Given the description of an element on the screen output the (x, y) to click on. 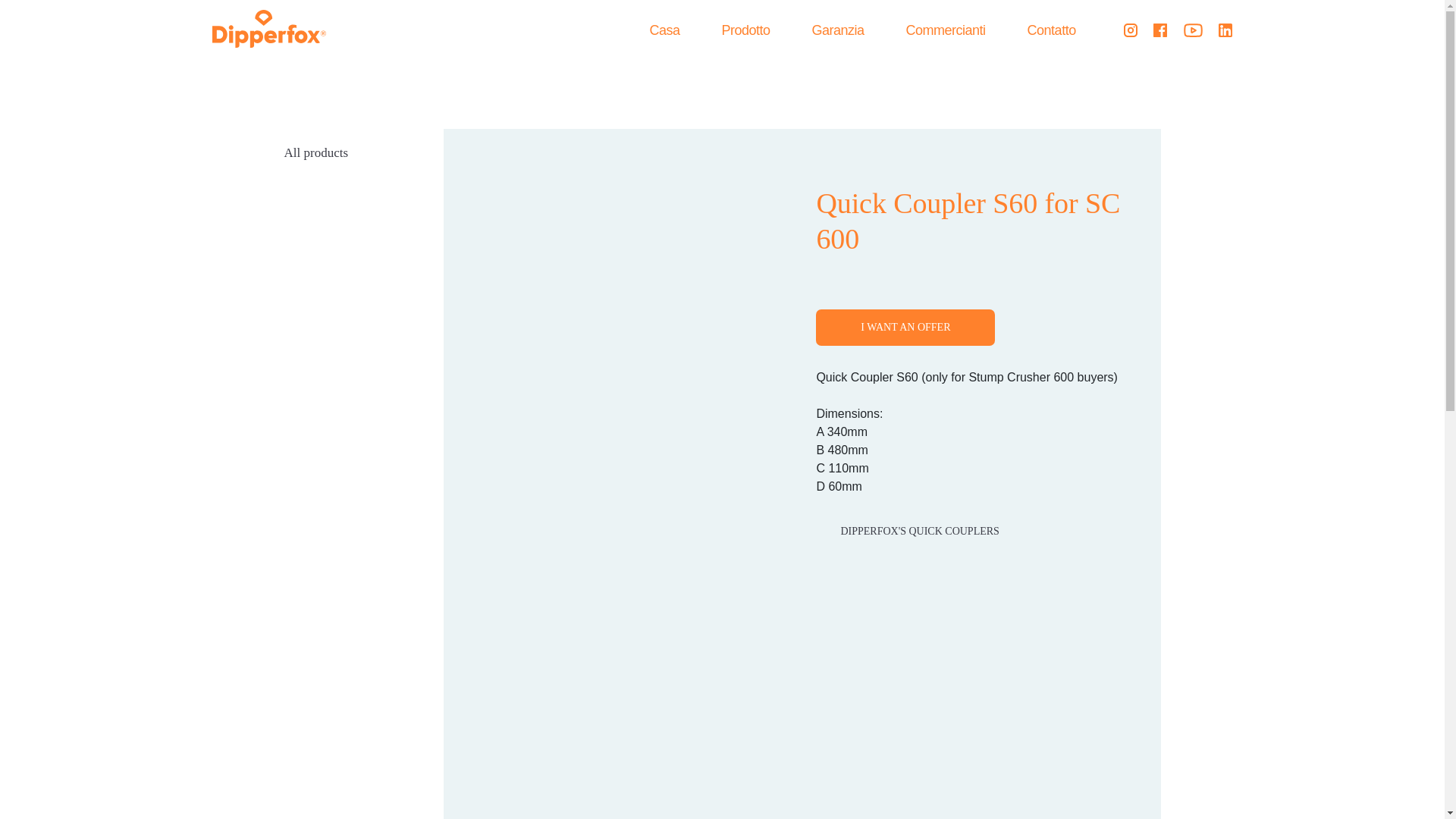
Commercianti (945, 29)
I WANT AN OFFER (904, 327)
All products (315, 152)
Garanzia (838, 29)
DIPPERFOX'S QUICK COUPLERS (914, 531)
Casa (664, 29)
Prodotto (745, 29)
Contatto (1051, 29)
